Given the description of an element on the screen output the (x, y) to click on. 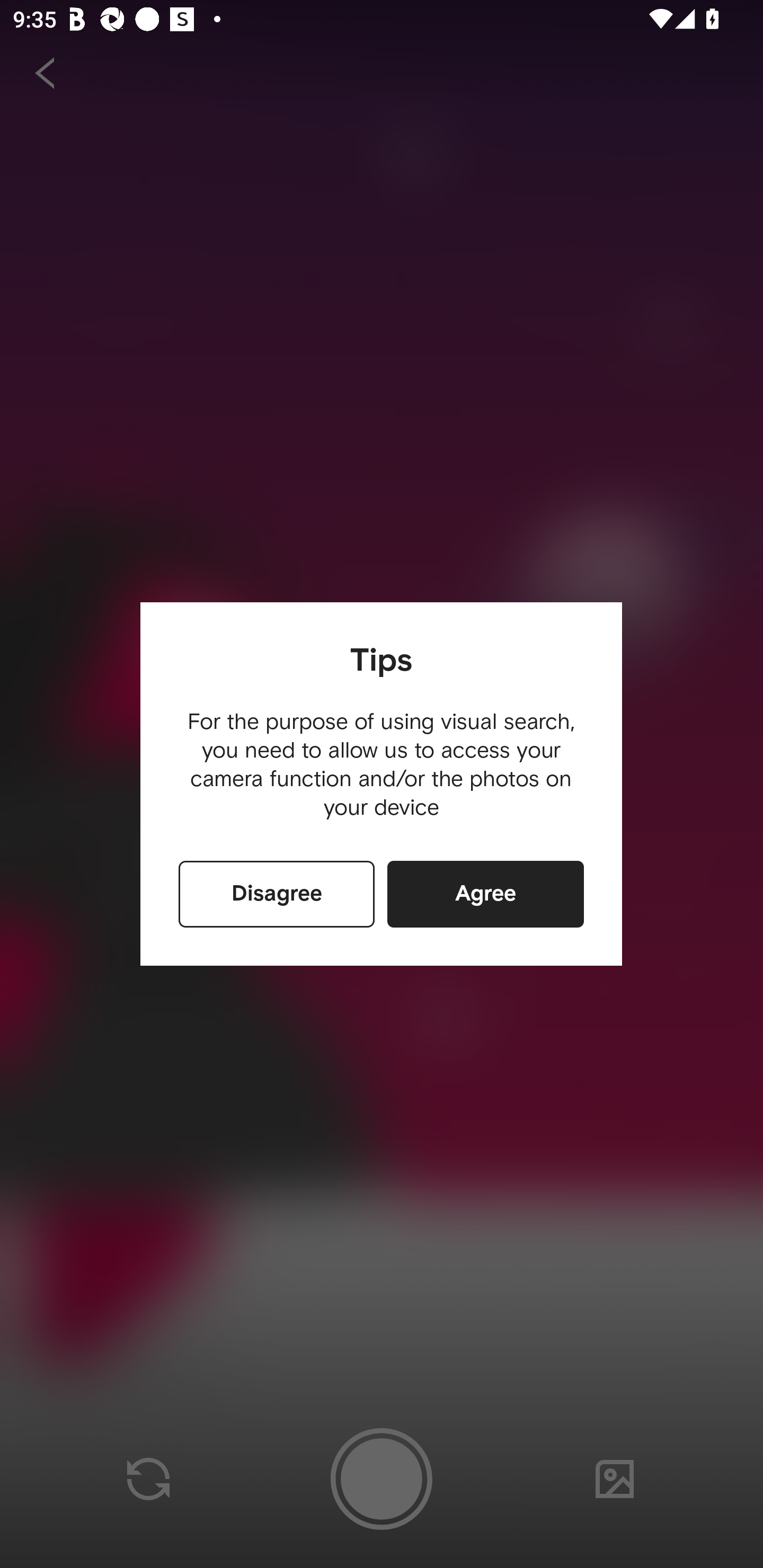
Disagree (276, 894)
Agree (485, 894)
